Given the description of an element on the screen output the (x, y) to click on. 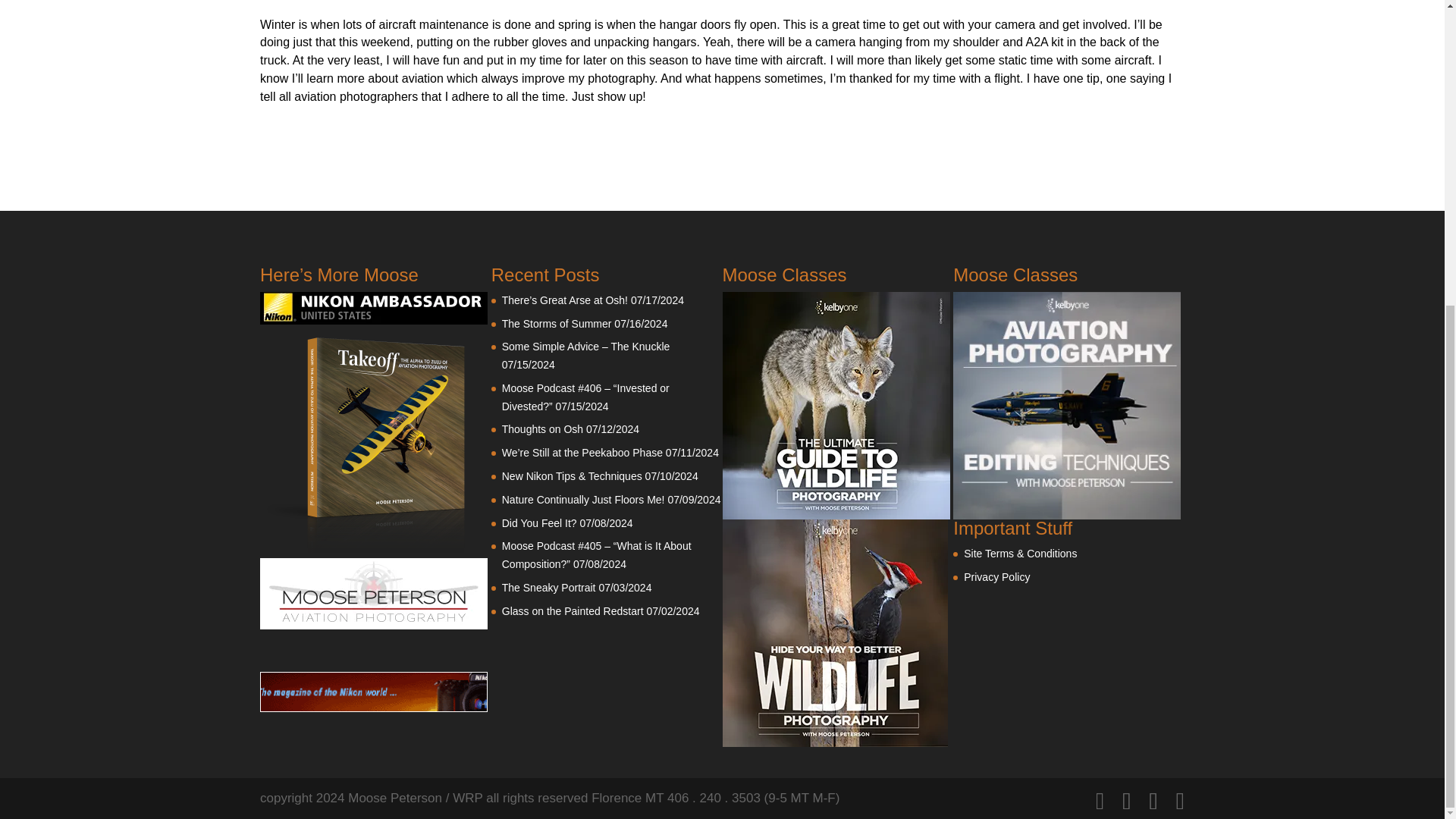
The Storms of Summer (556, 322)
Nikon Owner Magazine (373, 707)
Did You Feel It? (539, 522)
Nature Continually Just Floors Me! (583, 499)
Thoughts on Osh (542, 428)
